Given the description of an element on the screen output the (x, y) to click on. 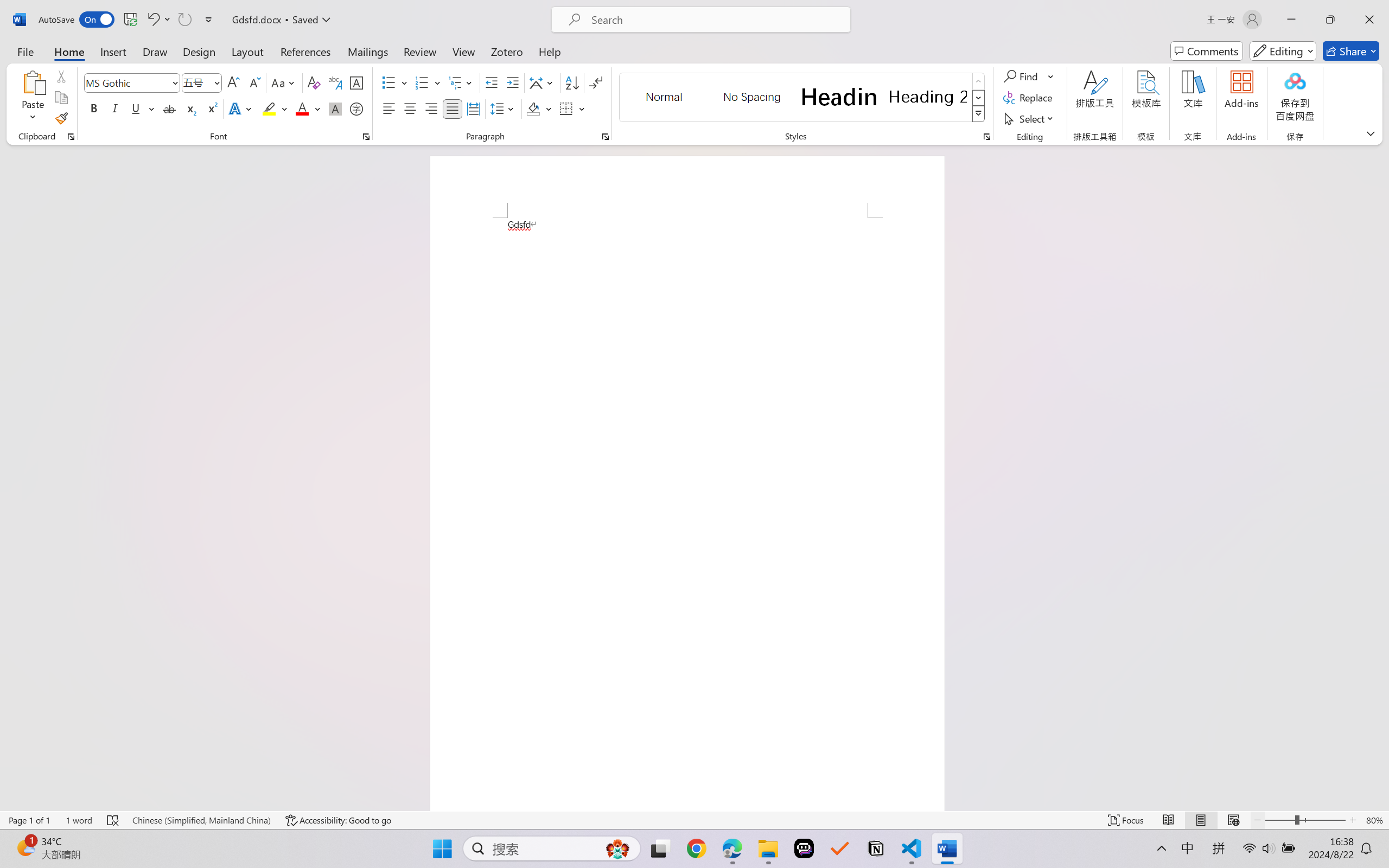
Can't Repeat (184, 19)
Class: NetUIScrollBar (1382, 477)
